Given the description of an element on the screen output the (x, y) to click on. 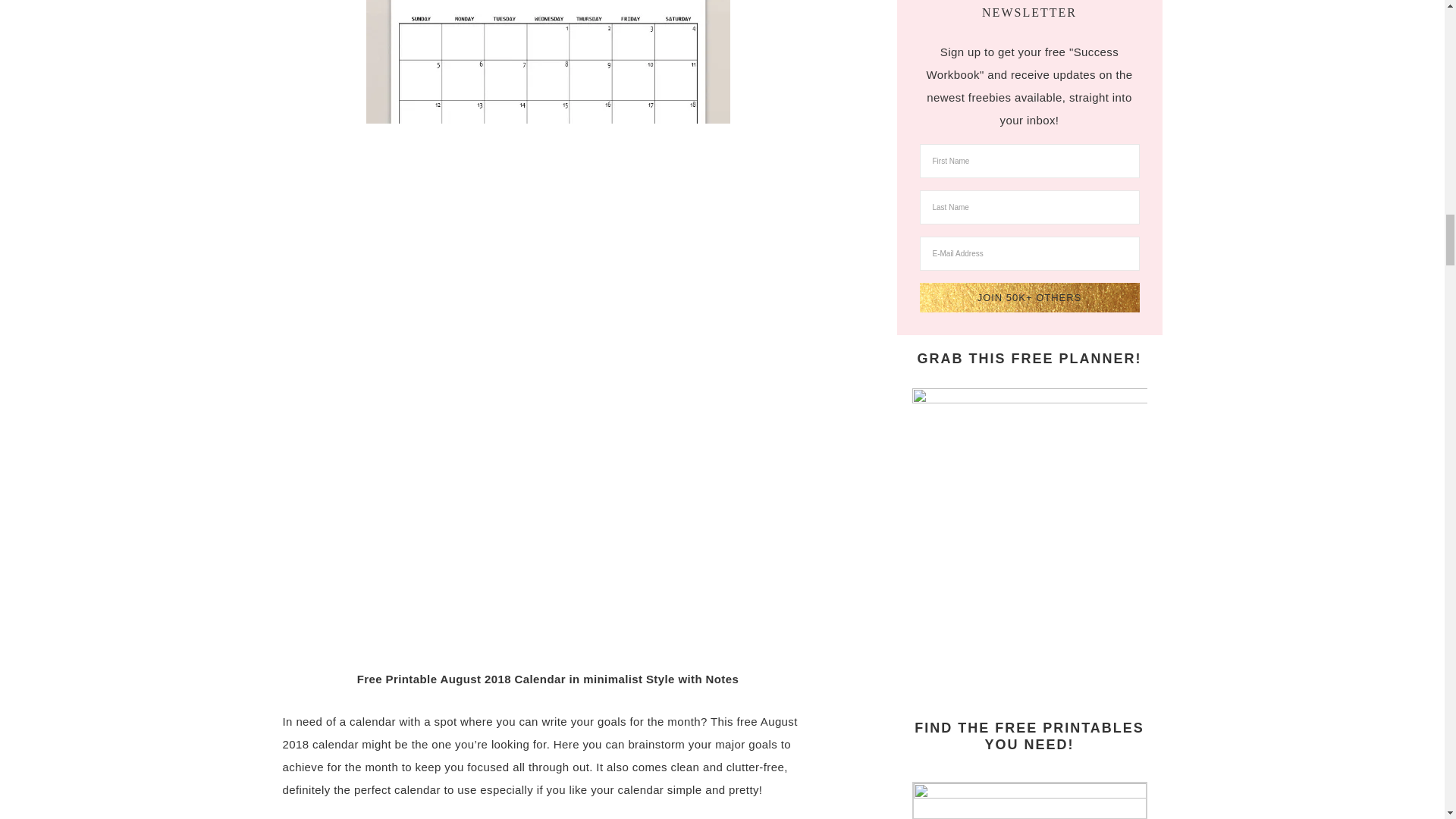
Meet this NEW Free Printable Planner! (1029, 540)
2024-calendars (1029, 793)
